Given the description of an element on the screen output the (x, y) to click on. 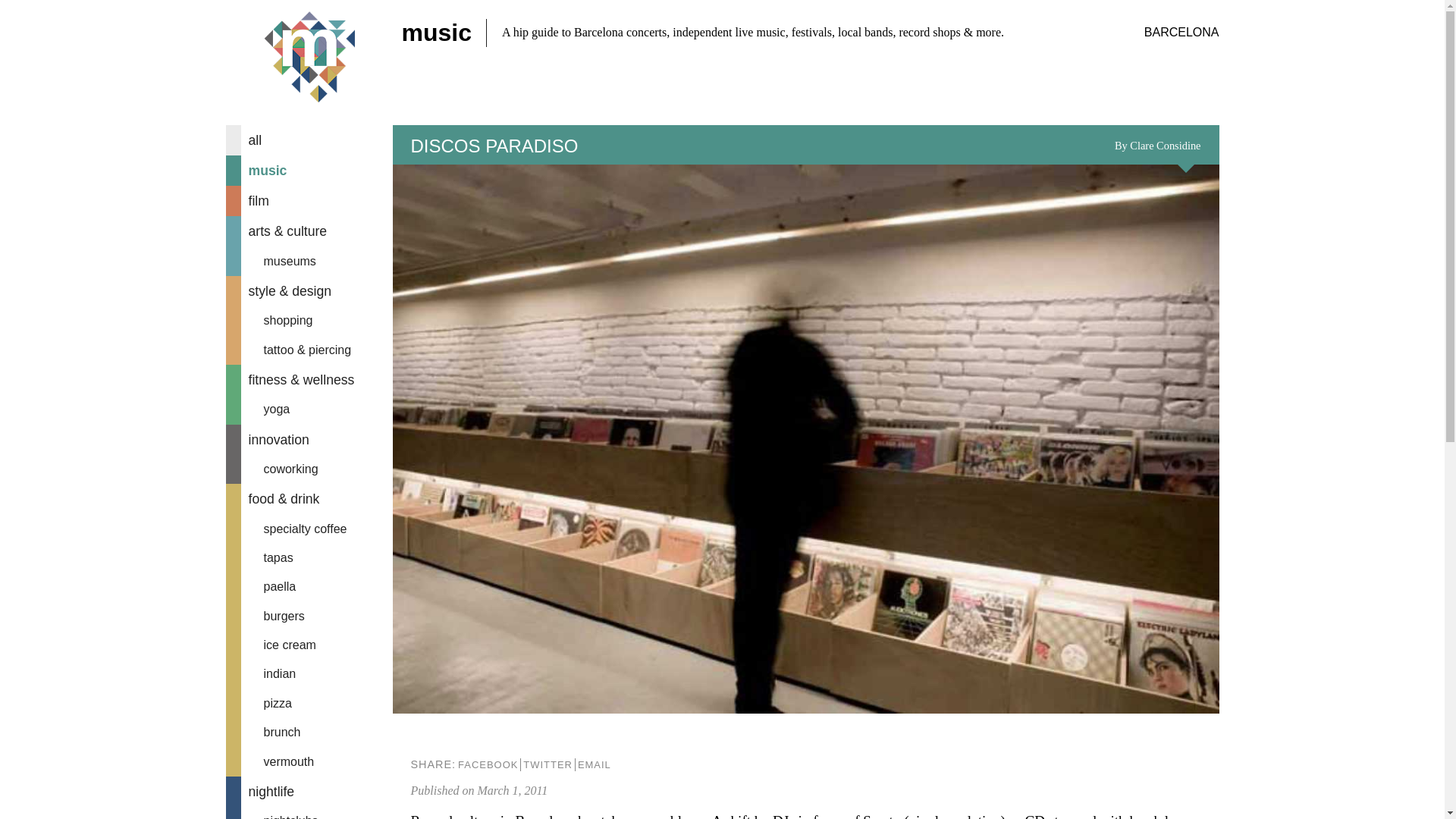
innovation (309, 440)
nightclubs (309, 812)
ice cream (309, 645)
coworking (309, 469)
EMAIL (593, 764)
brunch (309, 732)
music (309, 170)
tapas (309, 557)
indian (309, 674)
yoga (309, 409)
